Given the description of an element on the screen output the (x, y) to click on. 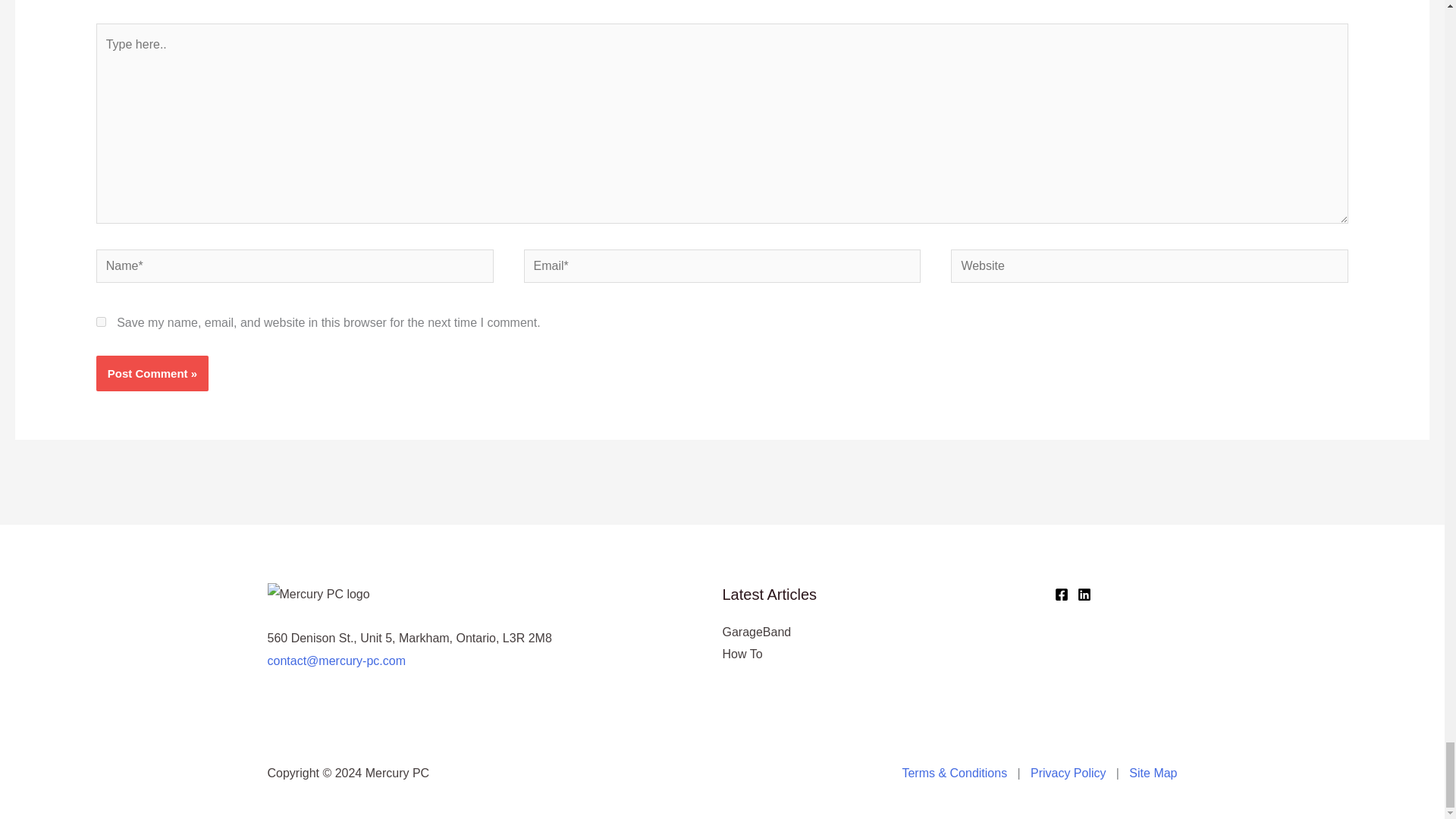
Privacy Policy (1068, 772)
Site Map (1152, 772)
GarageBand (756, 631)
How To (741, 653)
yes (101, 321)
